Given the description of an element on the screen output the (x, y) to click on. 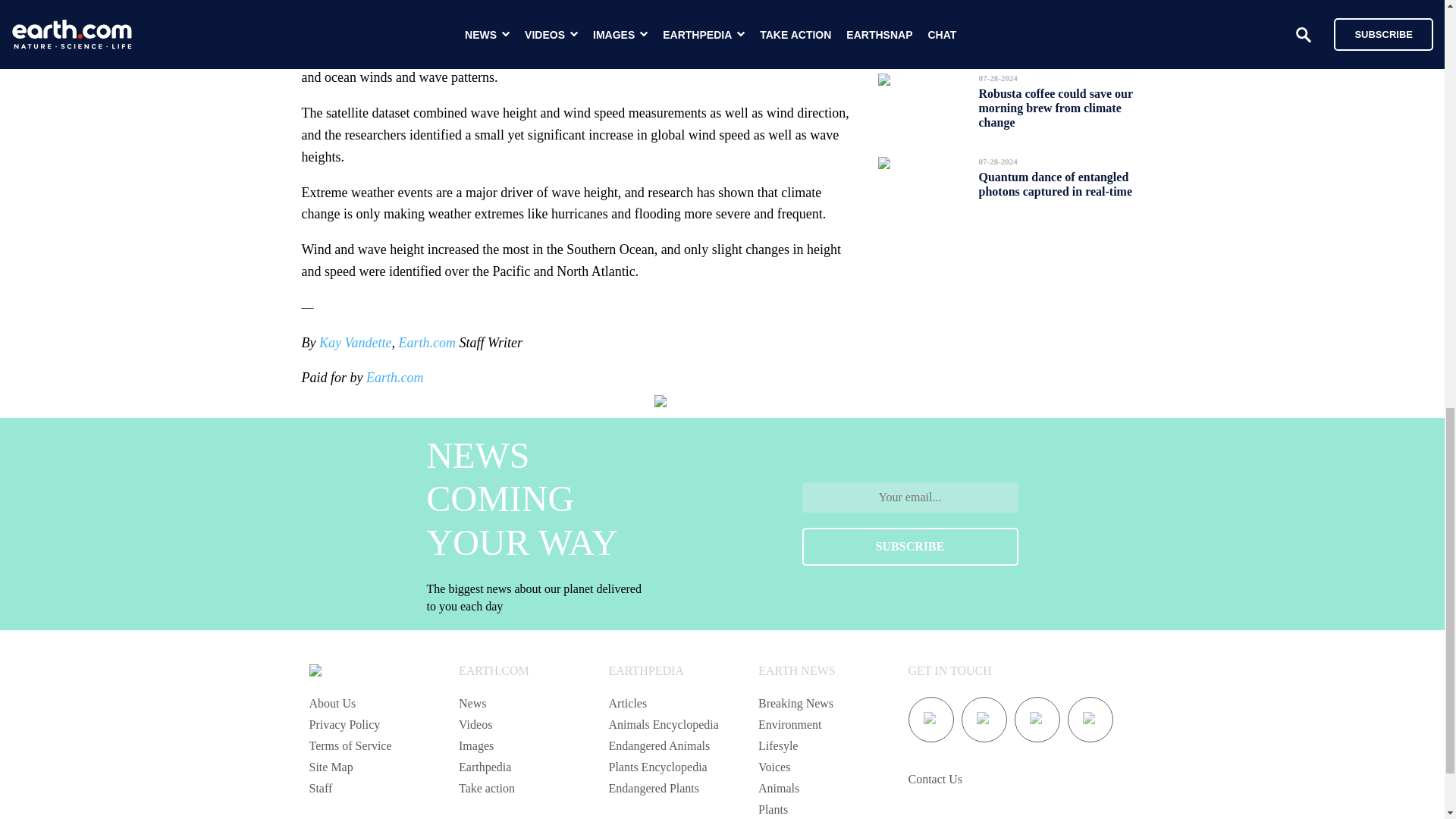
University of Melbourne (748, 11)
Earth.com (394, 377)
Science (537, 11)
Hasanuddin University (364, 33)
satellite data (574, 44)
Earth.com (427, 342)
Kay Vandette (354, 342)
